Given the description of an element on the screen output the (x, y) to click on. 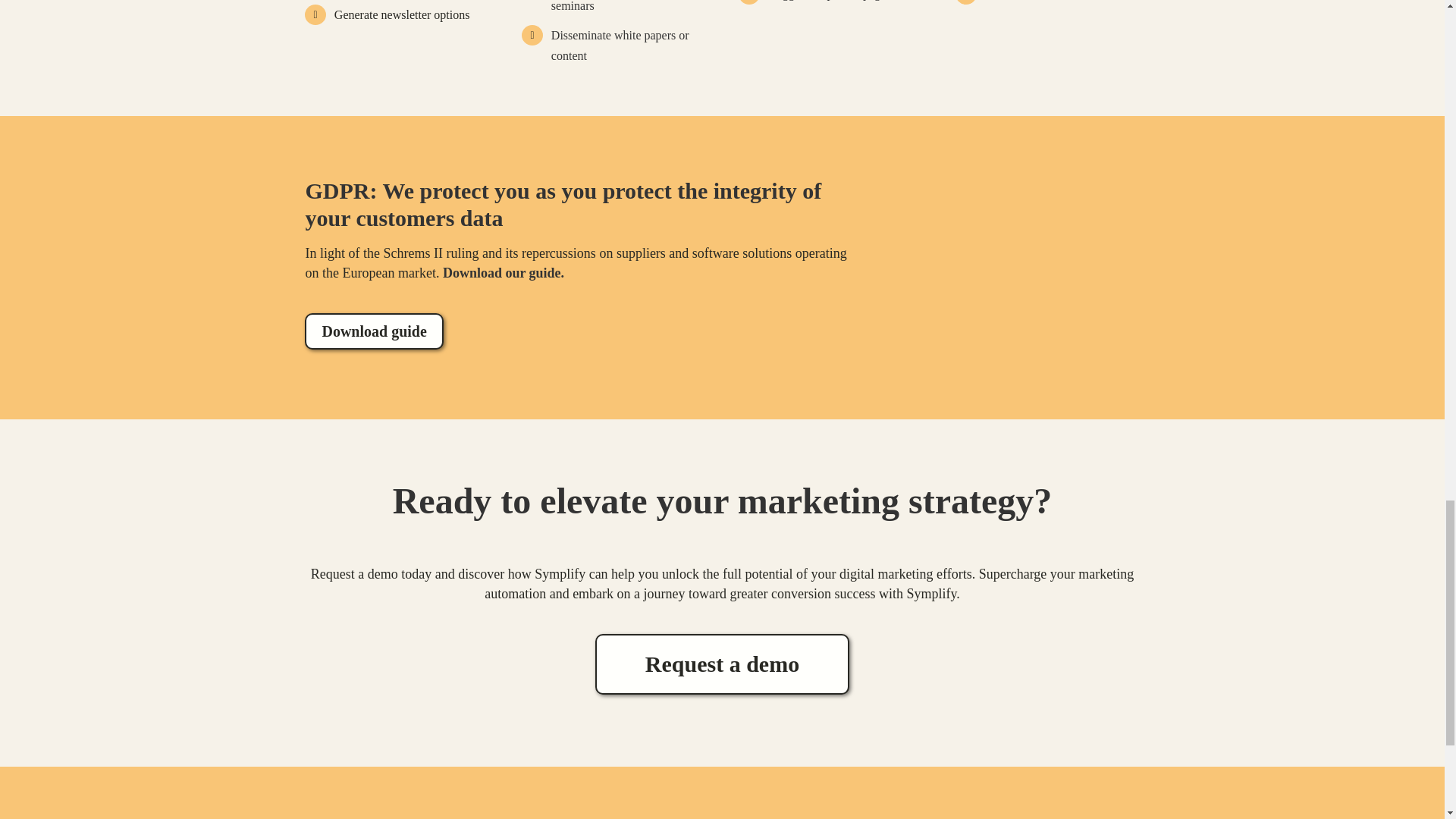
Download our guide.  (504, 272)
Request a demo (721, 663)
Download guide (373, 330)
